Given the description of an element on the screen output the (x, y) to click on. 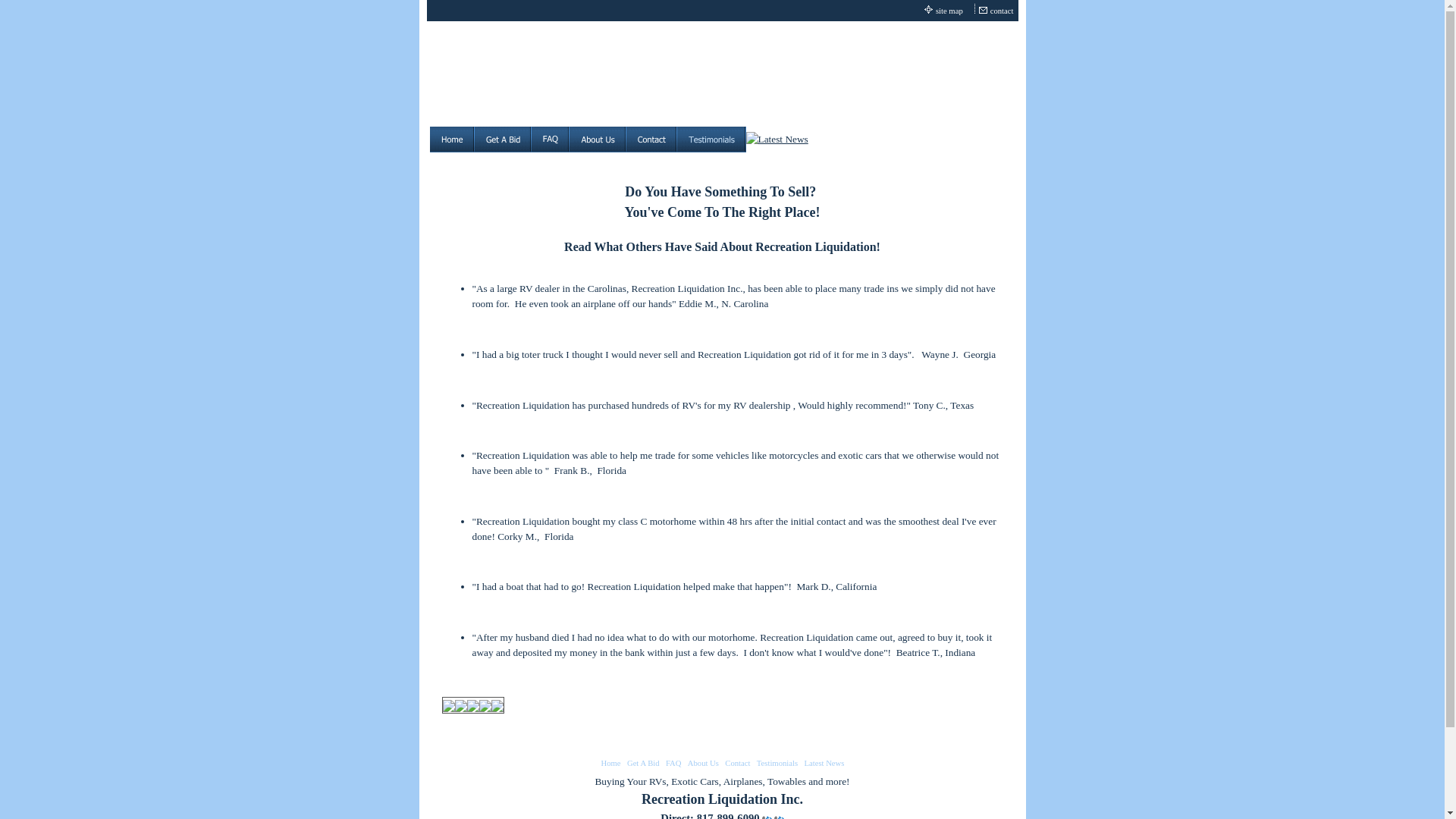
Testimonials (777, 763)
Call: 239-595-5969 (777, 816)
Get A Bid (643, 763)
Contact (737, 763)
contact (1002, 10)
Home (611, 763)
Call: 817-899-6090 (765, 816)
site map (949, 10)
FAQ (672, 763)
Latest News (823, 763)
Call: 817-899-6090 (765, 816)
About Us (702, 763)
Call: 239-595-5969 (777, 816)
